Given the description of an element on the screen output the (x, y) to click on. 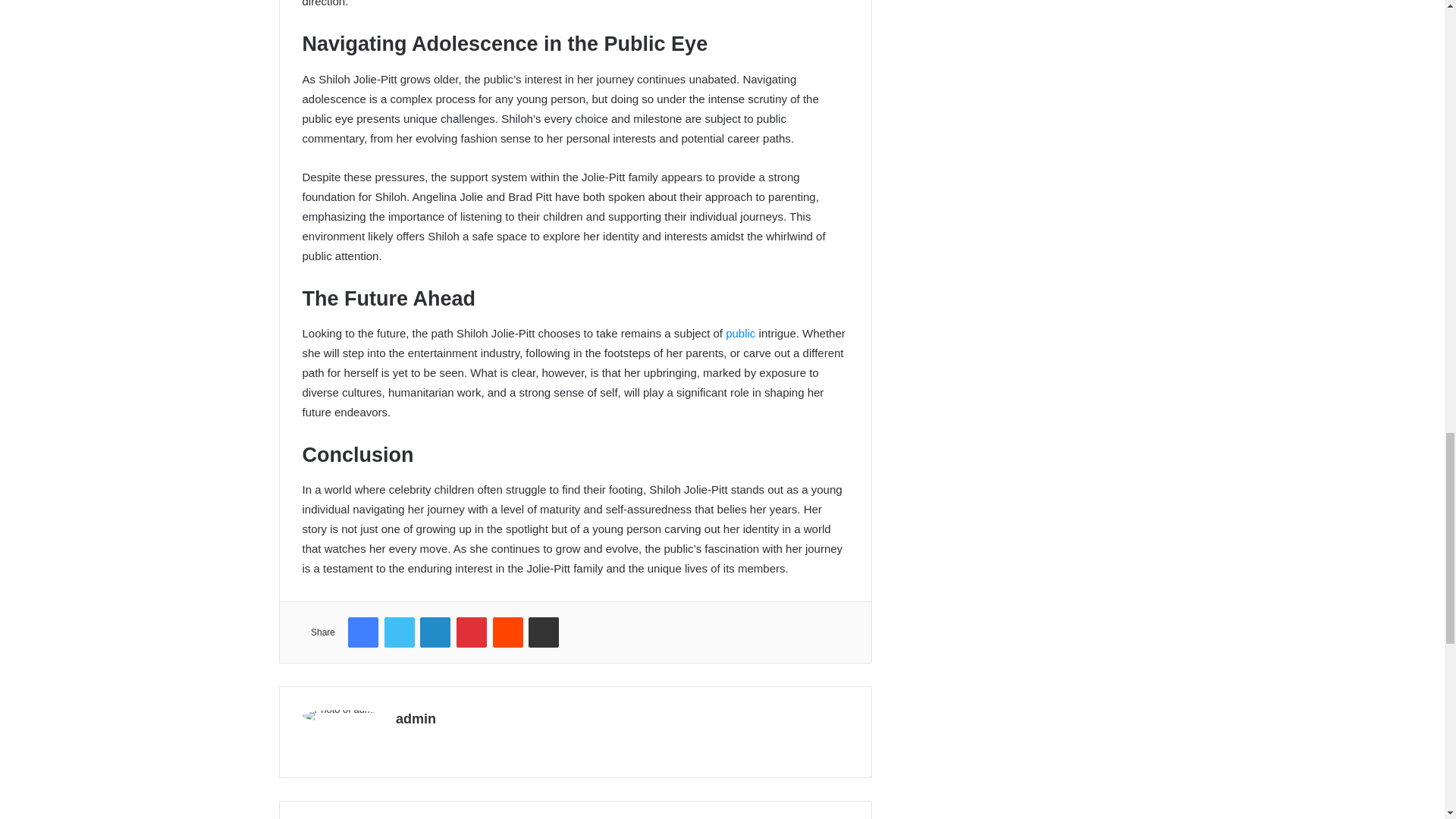
Twitter (399, 632)
public (740, 332)
Facebook (362, 632)
LinkedIn (434, 632)
